Given the description of an element on the screen output the (x, y) to click on. 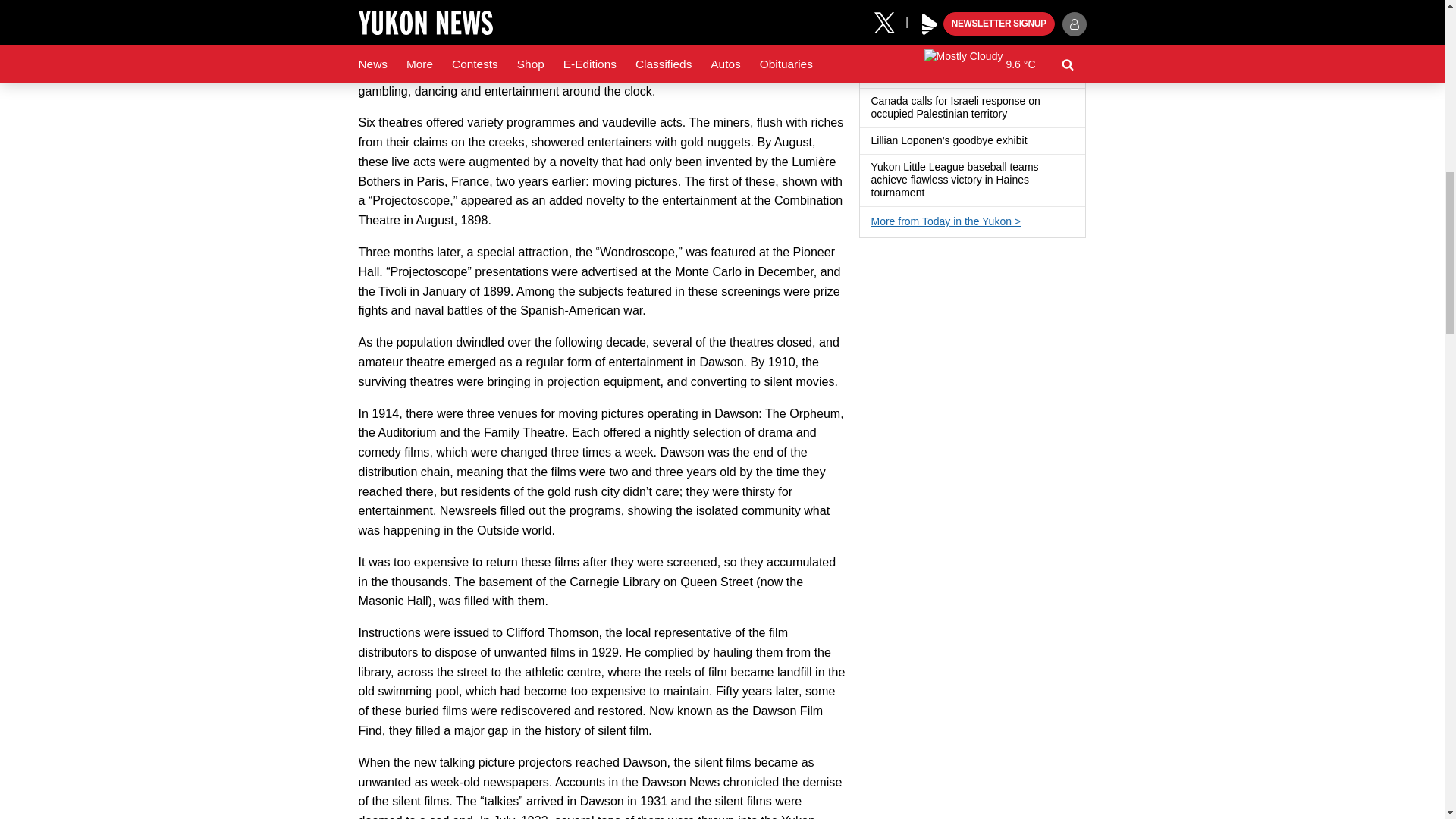
Has a gallery (1035, 141)
Has a gallery (933, 193)
